Given the description of an element on the screen output the (x, y) to click on. 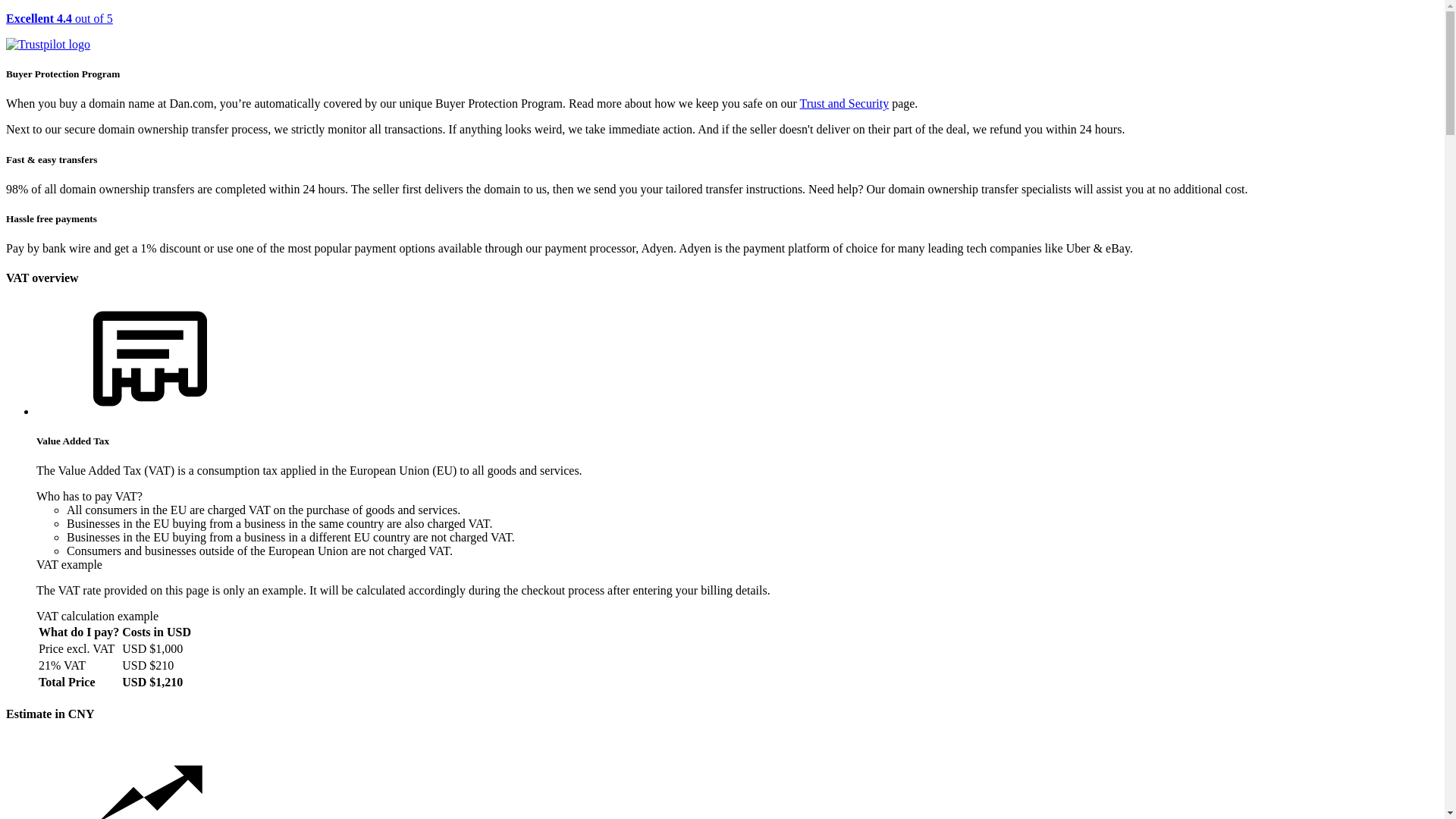
Excellent 4.4 out of 5 Element type: text (722, 31)
Trust and Security Element type: text (844, 103)
